Given the description of an element on the screen output the (x, y) to click on. 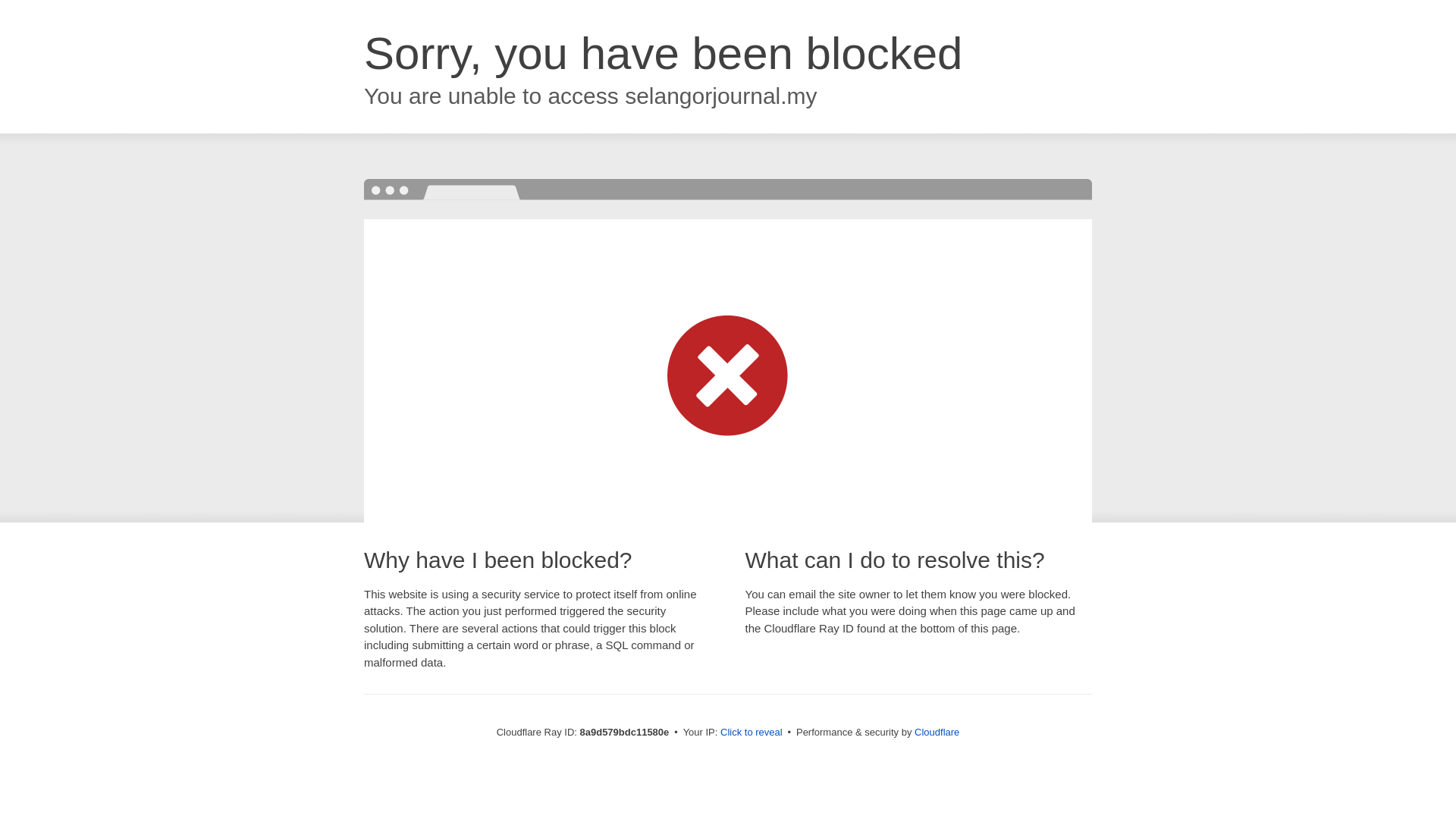
Click to reveal (751, 732)
Cloudflare (936, 731)
